Given the description of an element on the screen output the (x, y) to click on. 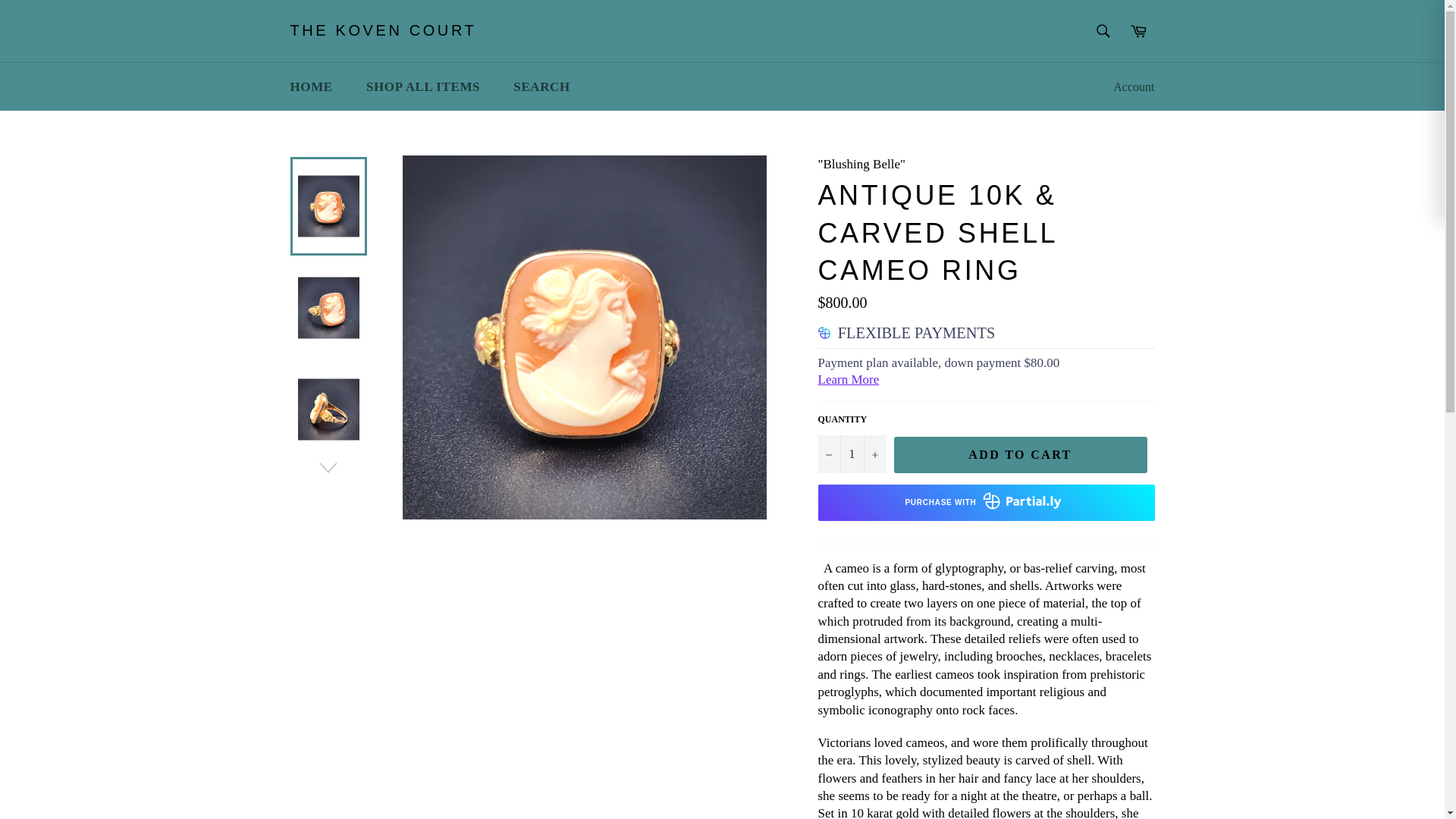
Cart (1138, 30)
1 (850, 453)
Account (1133, 86)
ADD TO CART (1020, 454)
SHOP ALL ITEMS (422, 86)
SEARCH (541, 86)
Learn More (847, 379)
Search (1101, 30)
HOME (311, 86)
THE KOVEN COURT (382, 30)
